Given the description of an element on the screen output the (x, y) to click on. 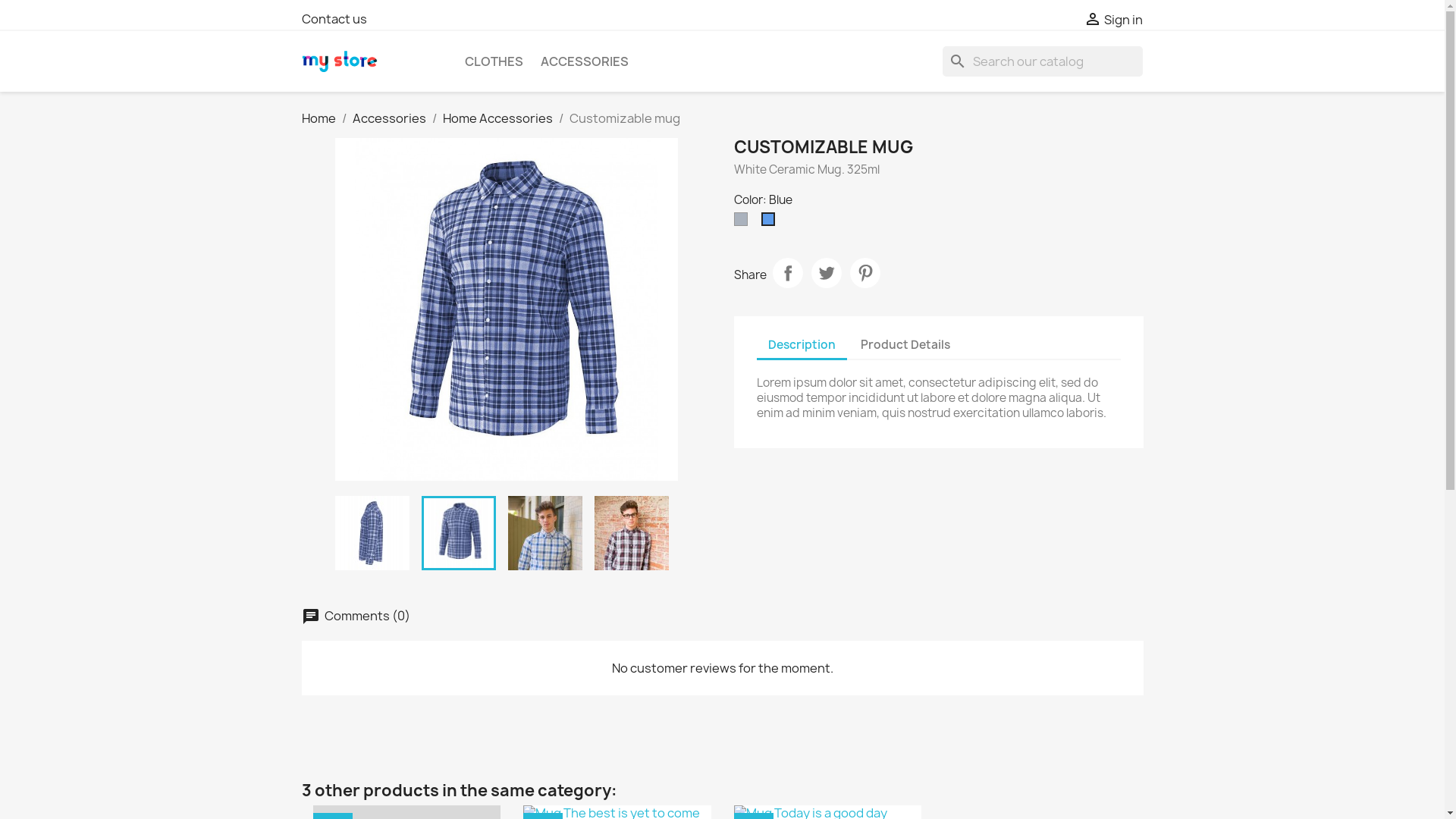
Contact us Element type: text (334, 18)
Product Details Element type: text (905, 344)
Share Element type: text (786, 272)
ACCESSORIES Element type: text (583, 61)
Pinterest Element type: text (864, 272)
Home Accessories Element type: text (497, 117)
CLOTHES Element type: text (493, 61)
Home Element type: text (318, 117)
Description Element type: text (801, 345)
Accessories Element type: text (388, 117)
Tweet Element type: text (826, 272)
